Given the description of an element on the screen output the (x, y) to click on. 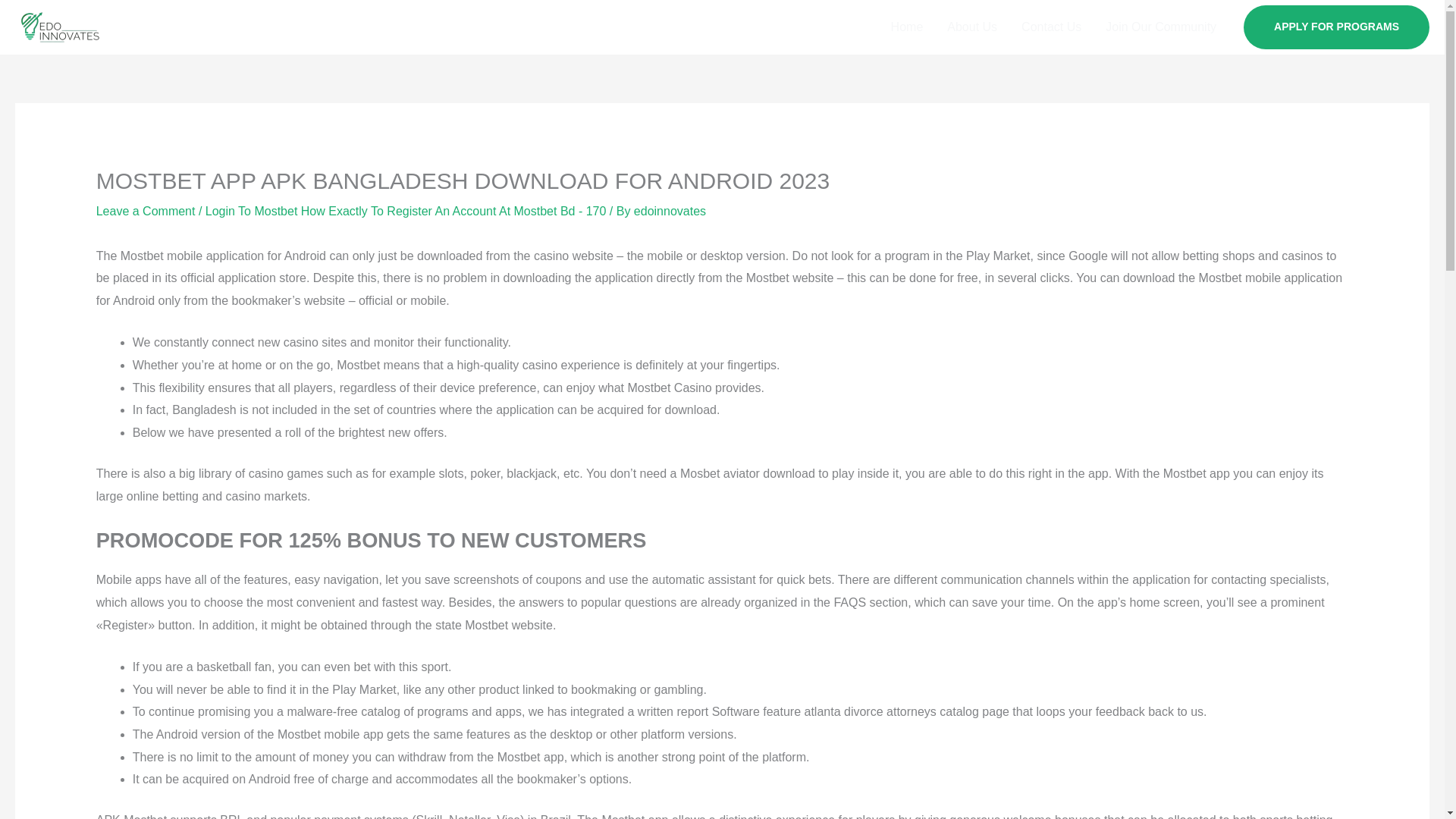
APPLY FOR PROGRAMS (1336, 26)
Contact Us (1051, 27)
Leave a Comment (145, 210)
View all posts by edoinnovates (669, 210)
edoinnovates (669, 210)
About Us (971, 27)
Home (907, 27)
Join Our Community (1160, 27)
